Given the description of an element on the screen output the (x, y) to click on. 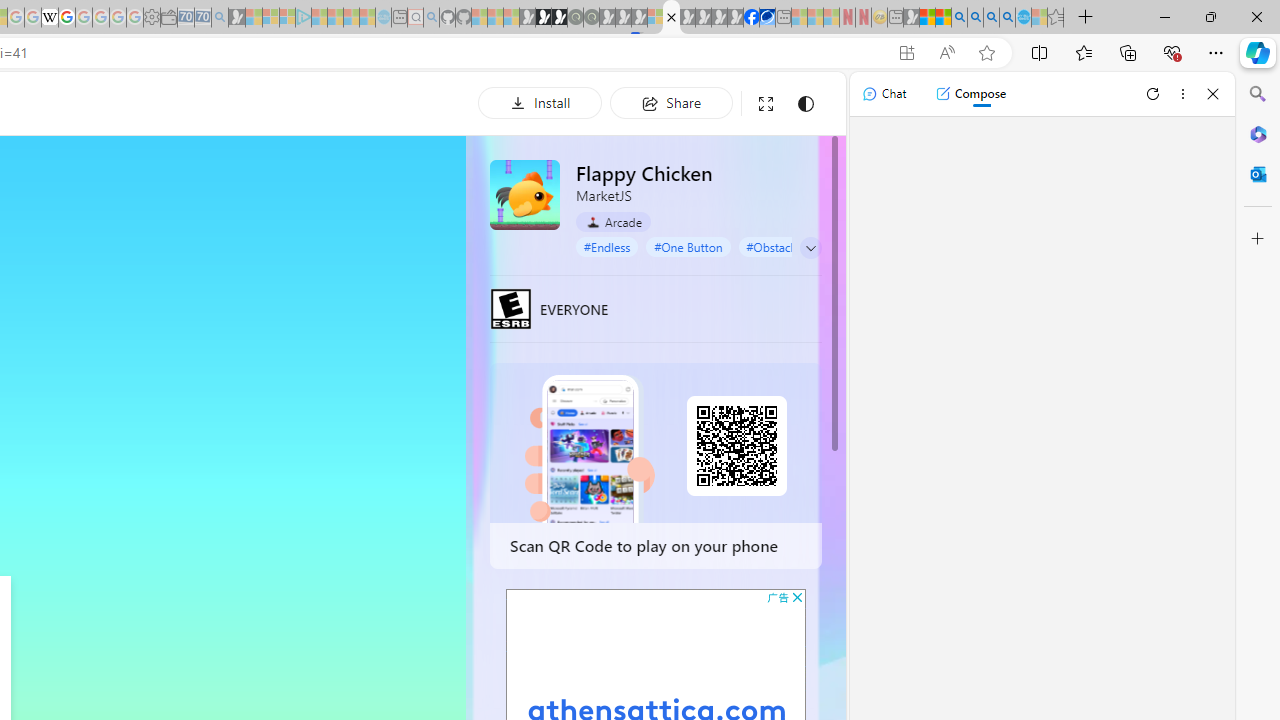
Bing AI - Search (959, 17)
Arcade (613, 221)
Future Focus Report 2024 - Sleeping (591, 17)
Share (671, 102)
Class: expand-arrow neutral (810, 247)
MSN - Sleeping (911, 17)
Play Zoo Boom in your browser | Games from Microsoft Start (543, 17)
#Obstacle Course (792, 246)
